Given the description of an element on the screen output the (x, y) to click on. 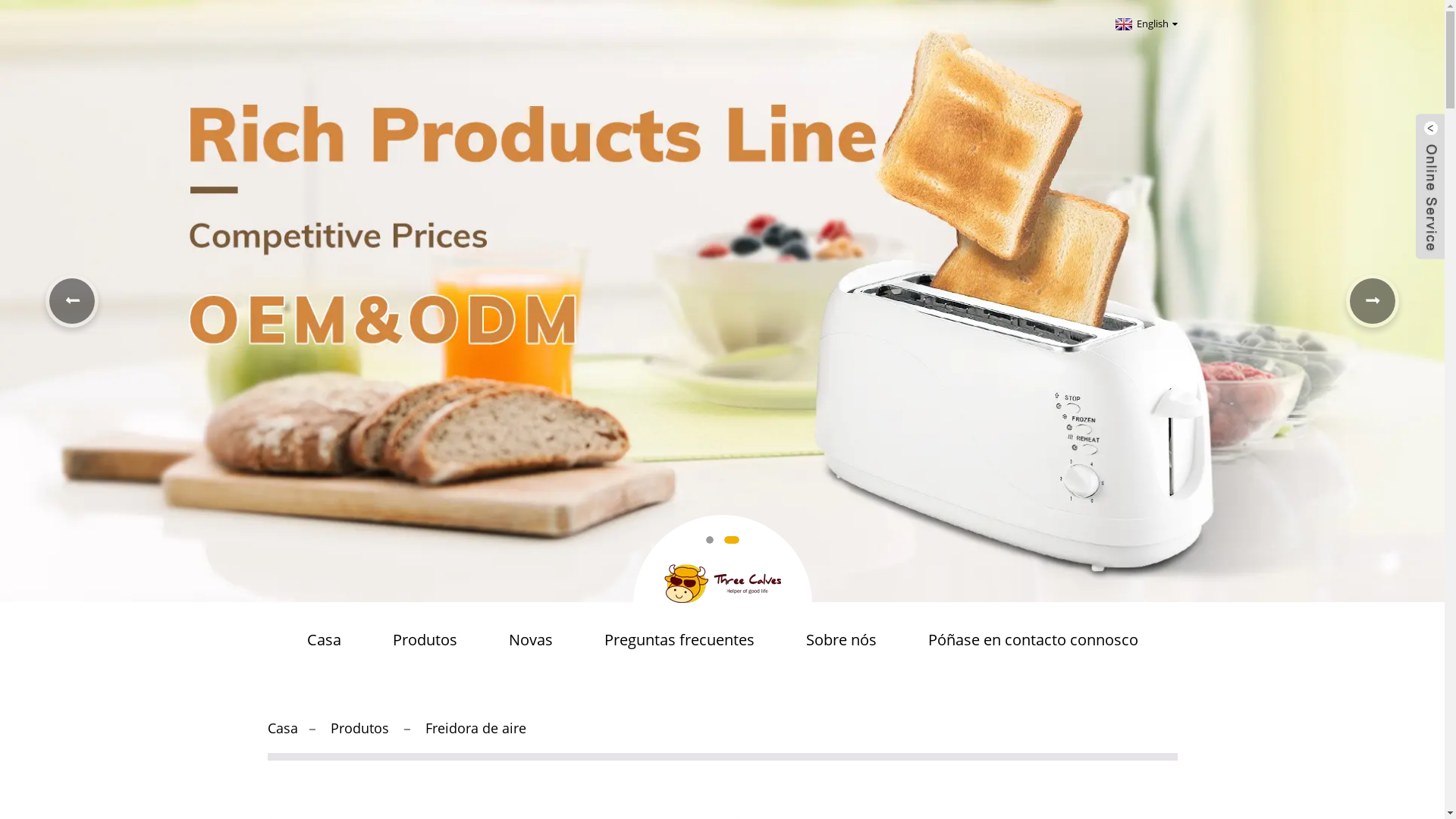
Casa Element type: text (281, 727)
English Element type: text (1144, 23)
Novas Element type: text (530, 639)
Preguntas frecuentes Element type: text (678, 639)
Casa Element type: text (323, 639)
Freidora de aire Element type: text (474, 727)
Produtos Element type: text (359, 727)
Produtos Element type: text (424, 639)
